Given the description of an element on the screen output the (x, y) to click on. 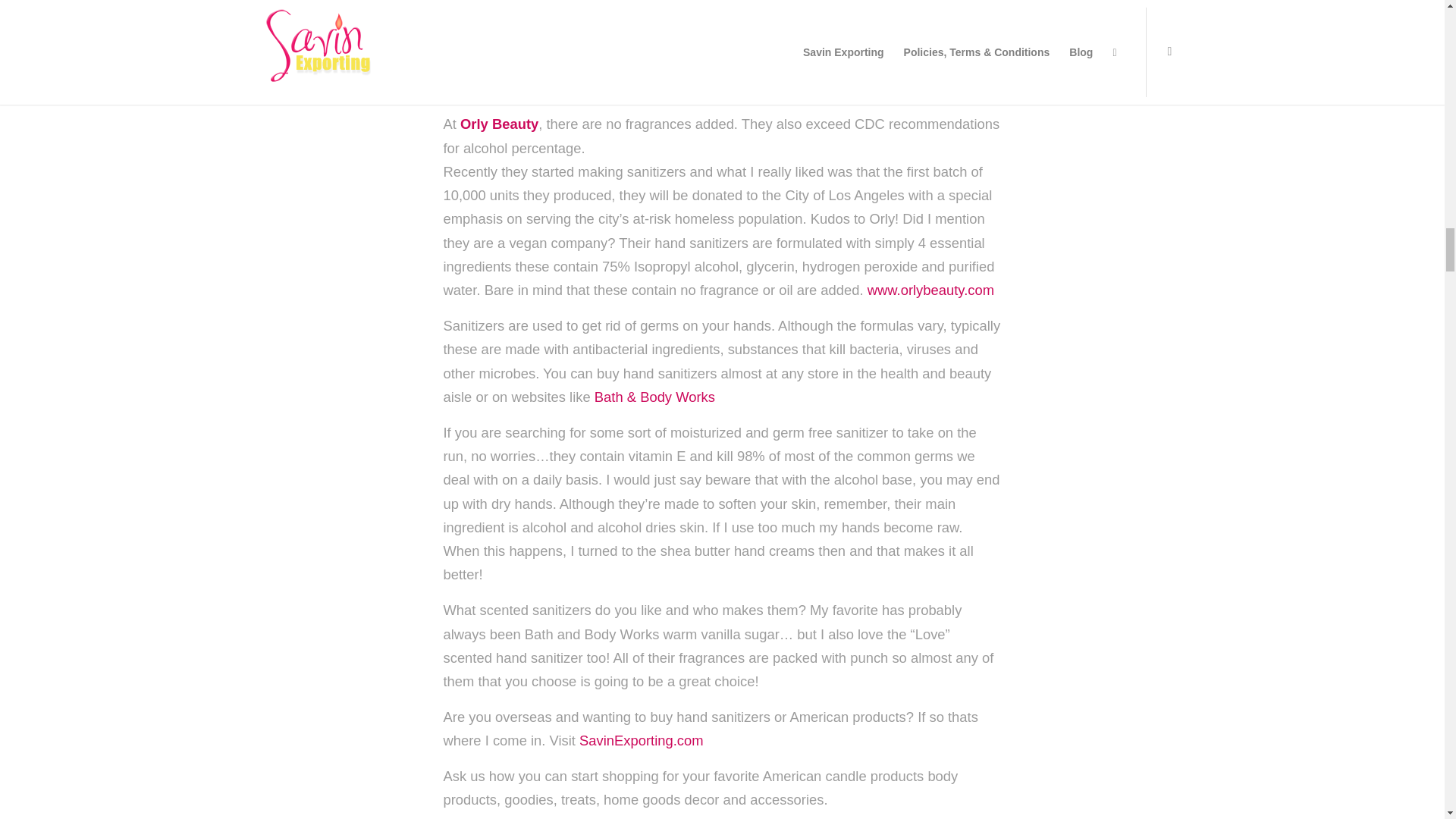
www.orlybeauty.com (930, 289)
SavinExporting.com (641, 740)
www.yoobie.com (787, 21)
